Given the description of an element on the screen output the (x, y) to click on. 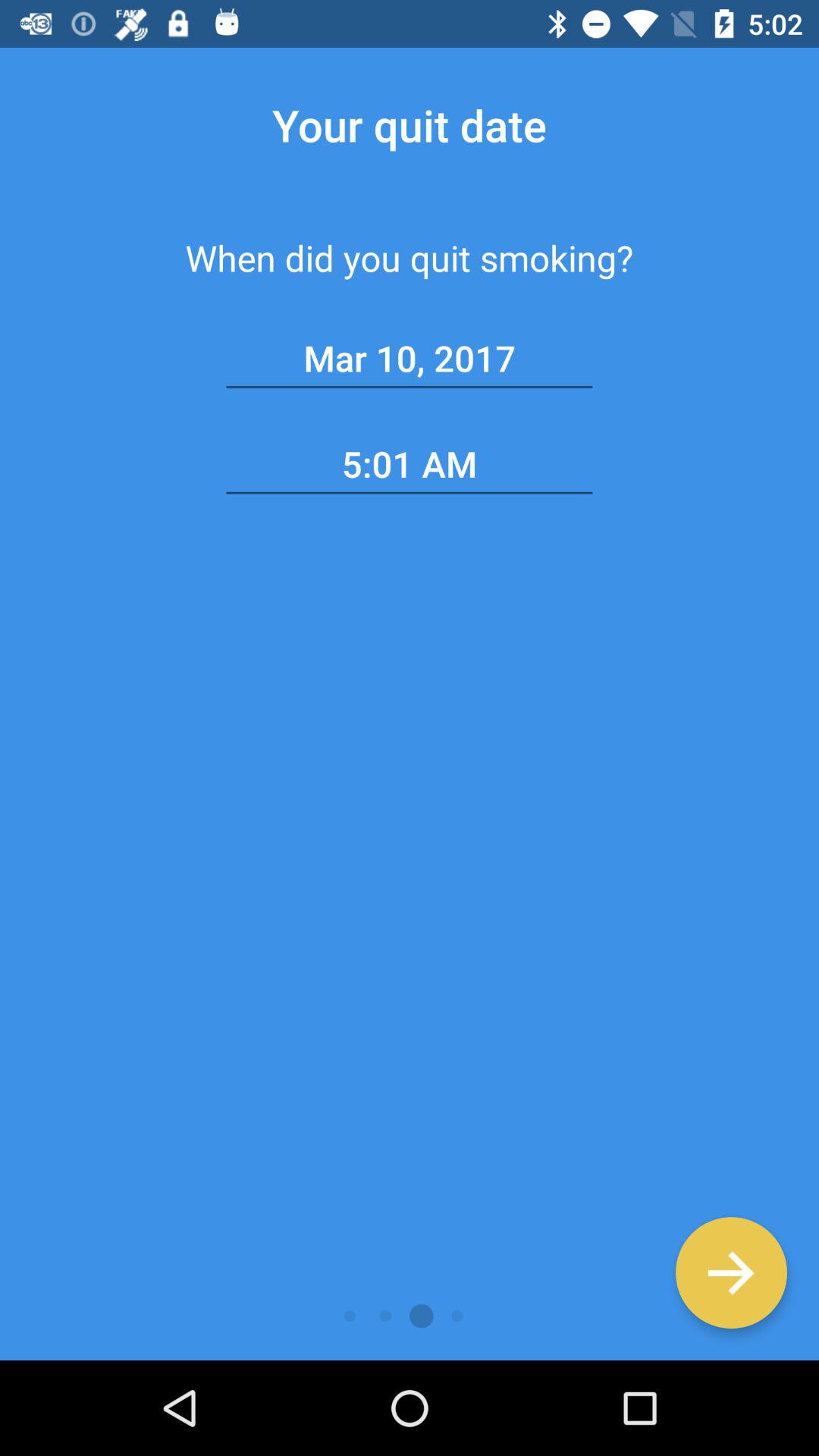
choose the icon above 5:01 am icon (409, 358)
